Given the description of an element on the screen output the (x, y) to click on. 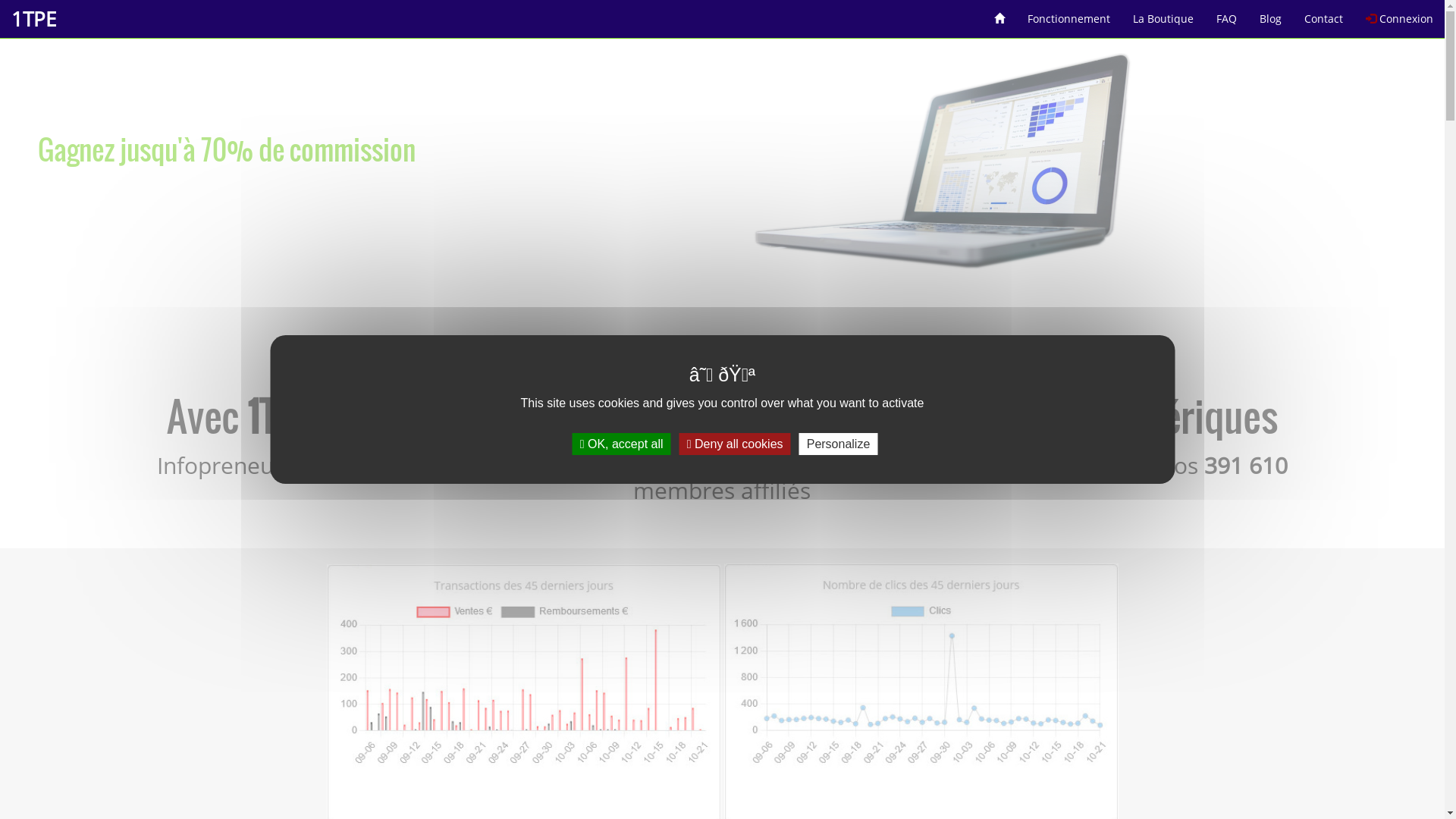
OK, accept all Element type: text (621, 444)
1TPE Element type: text (33, 18)
Connexion Element type: text (1399, 13)
Blog Element type: text (1270, 13)
Deny all cookies Element type: text (734, 444)
La Boutique Element type: text (1162, 13)
FAQ Element type: text (1226, 13)
Personalize Element type: text (838, 444)
Contact Element type: text (1323, 13)
Fonctionnement Element type: text (1068, 13)
